Given the description of an element on the screen output the (x, y) to click on. 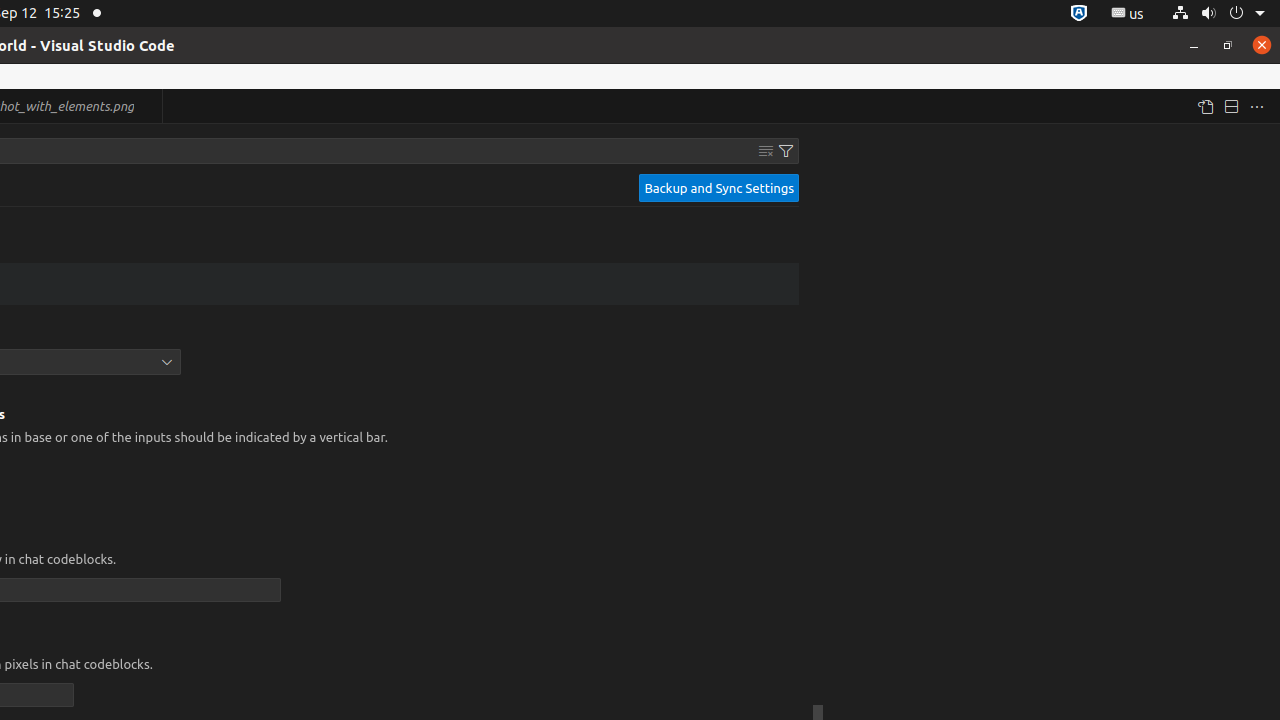
Open Settings (JSON) Element type: push-button (1205, 106)
Backup and Sync Settings Element type: push-button (719, 188)
Filter Settings Element type: push-button (786, 151)
Close (Ctrl+W) Element type: push-button (148, 106)
